Given the description of an element on the screen output the (x, y) to click on. 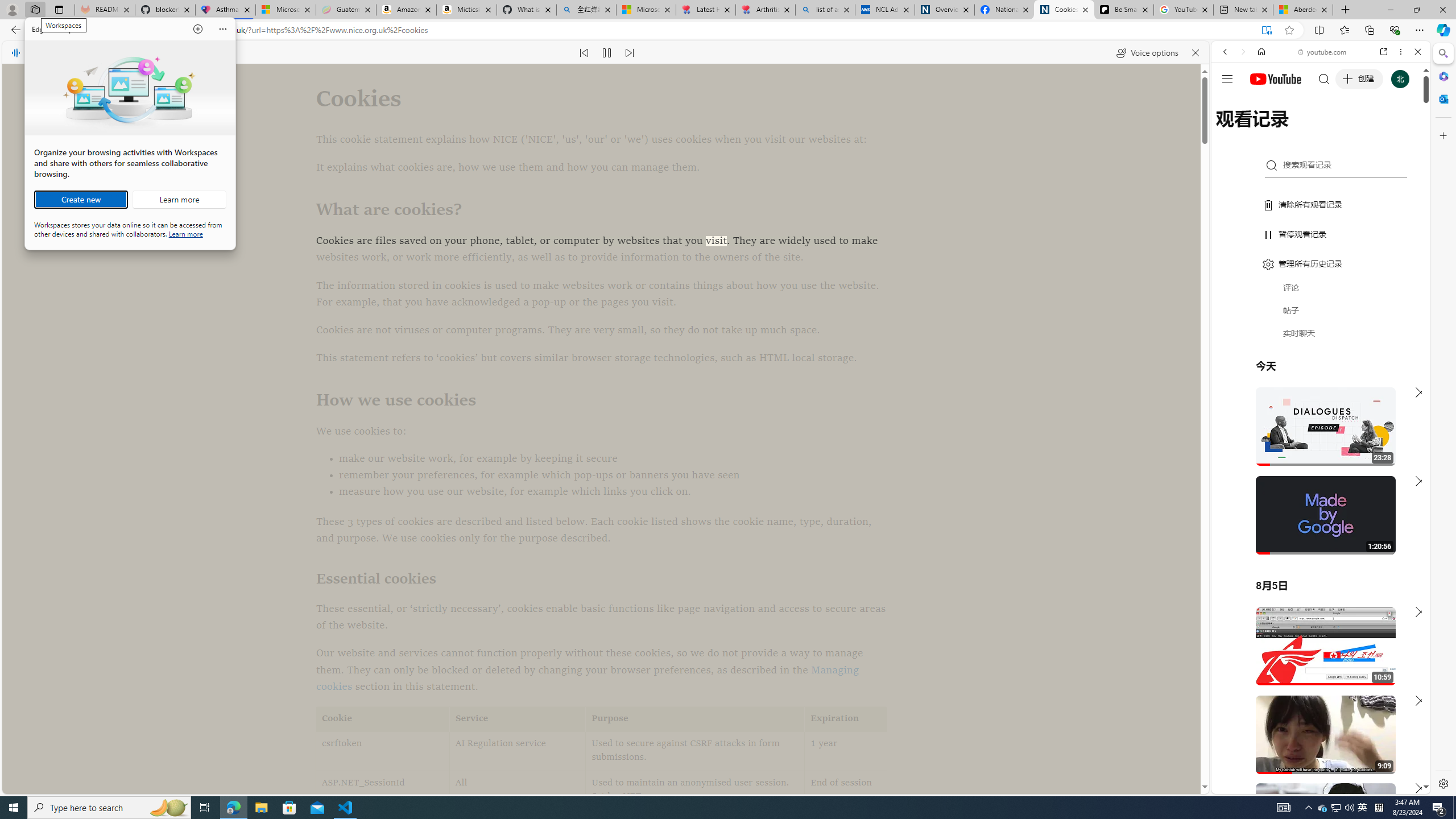
Class: dict_pnIcon rms_img (1312, 784)
Action Center, 2 new notifications (1439, 807)
Web scope (1335, 807)
YouTube - YouTube (1230, 102)
Cookies (1315, 560)
1 year (1064, 9)
Search the web (844, 751)
